Given the description of an element on the screen output the (x, y) to click on. 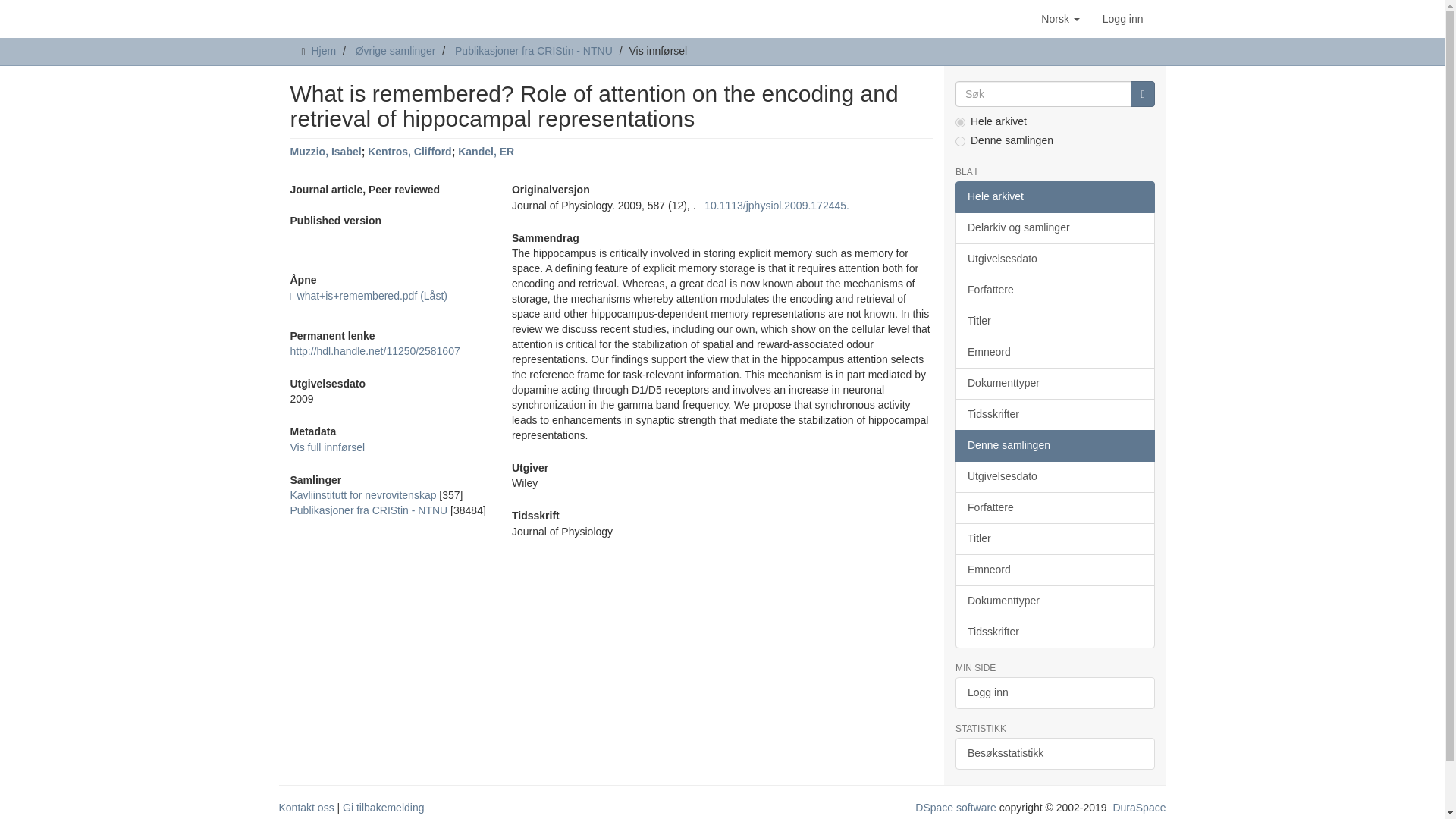
Kentros, Clifford (409, 151)
Hele arkivet (1054, 196)
Publikasjoner fra CRIStin - NTNU (367, 510)
Logg inn (1122, 18)
Forfattere (1054, 290)
Muzzio, Isabel (325, 151)
Norsk  (1059, 18)
Hjem (323, 50)
Utgivelsesdato (1054, 259)
Publikasjoner fra CRIStin - NTNU (533, 50)
